Given the description of an element on the screen output the (x, y) to click on. 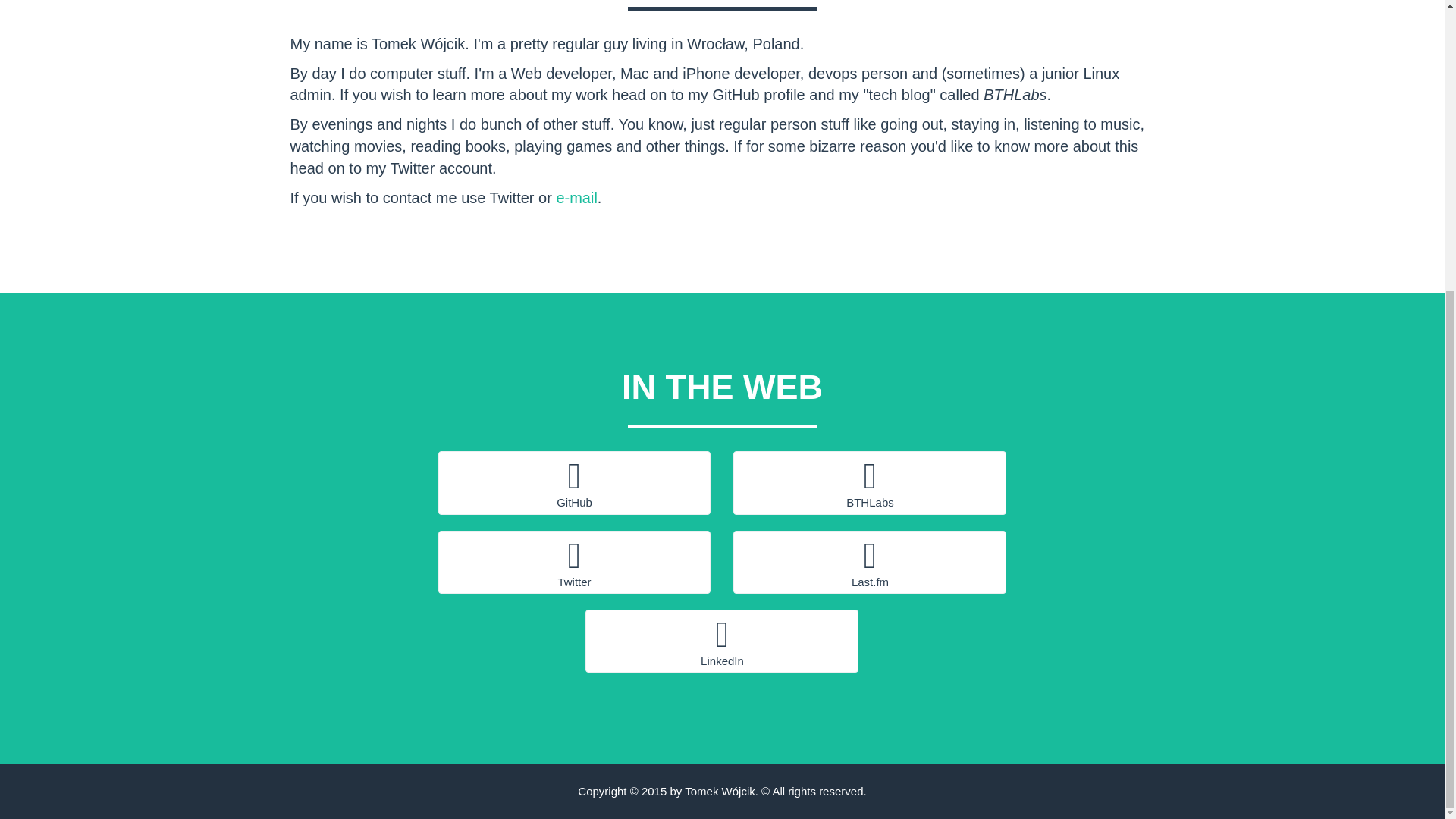
e-mail (576, 197)
GitHub (574, 482)
Last.fm (869, 561)
LinkedIn (722, 640)
BTHLabs (869, 482)
Twitter (574, 561)
